Given the description of an element on the screen output the (x, y) to click on. 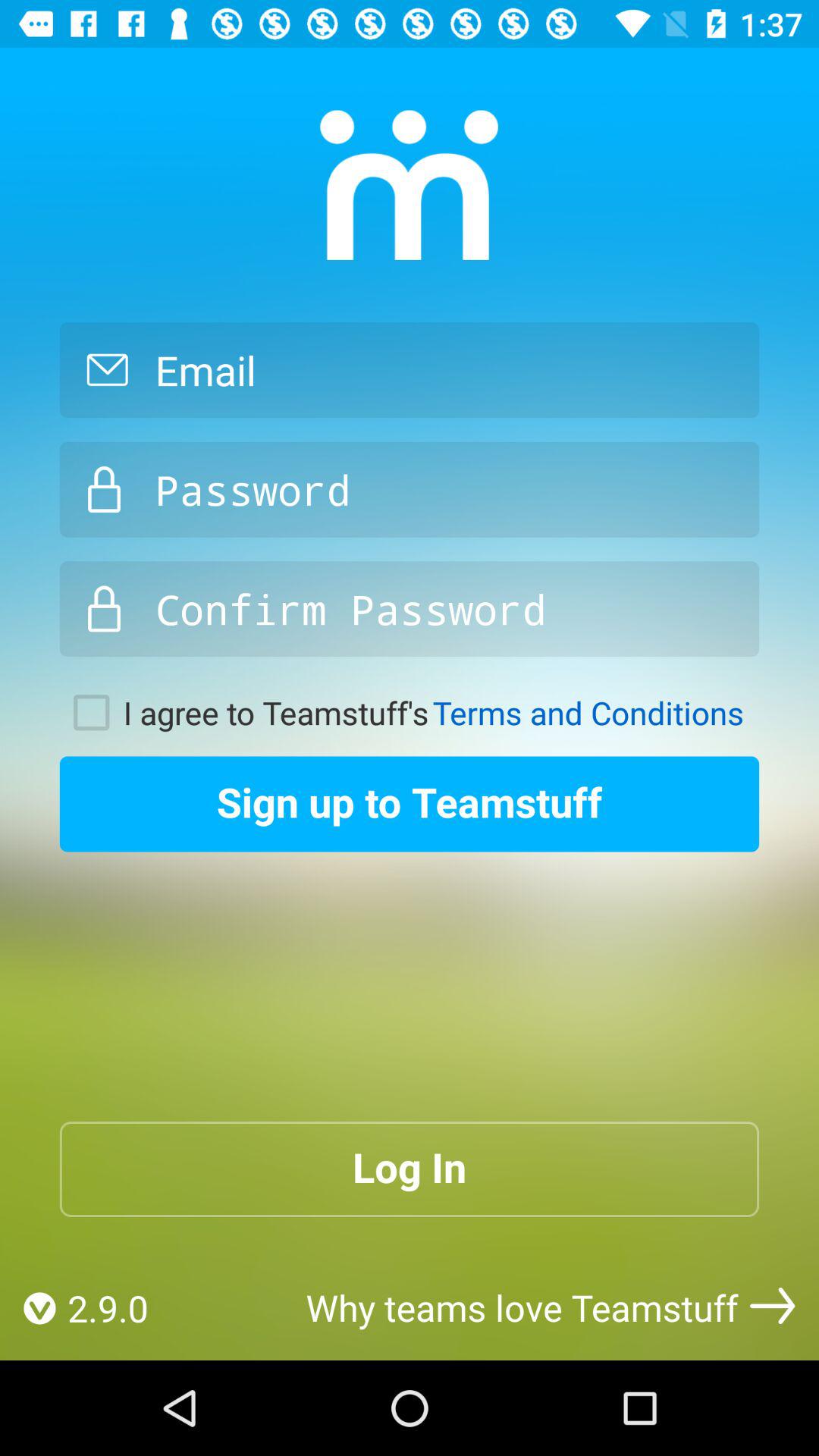
go to mail (409, 370)
